Given the description of an element on the screen output the (x, y) to click on. 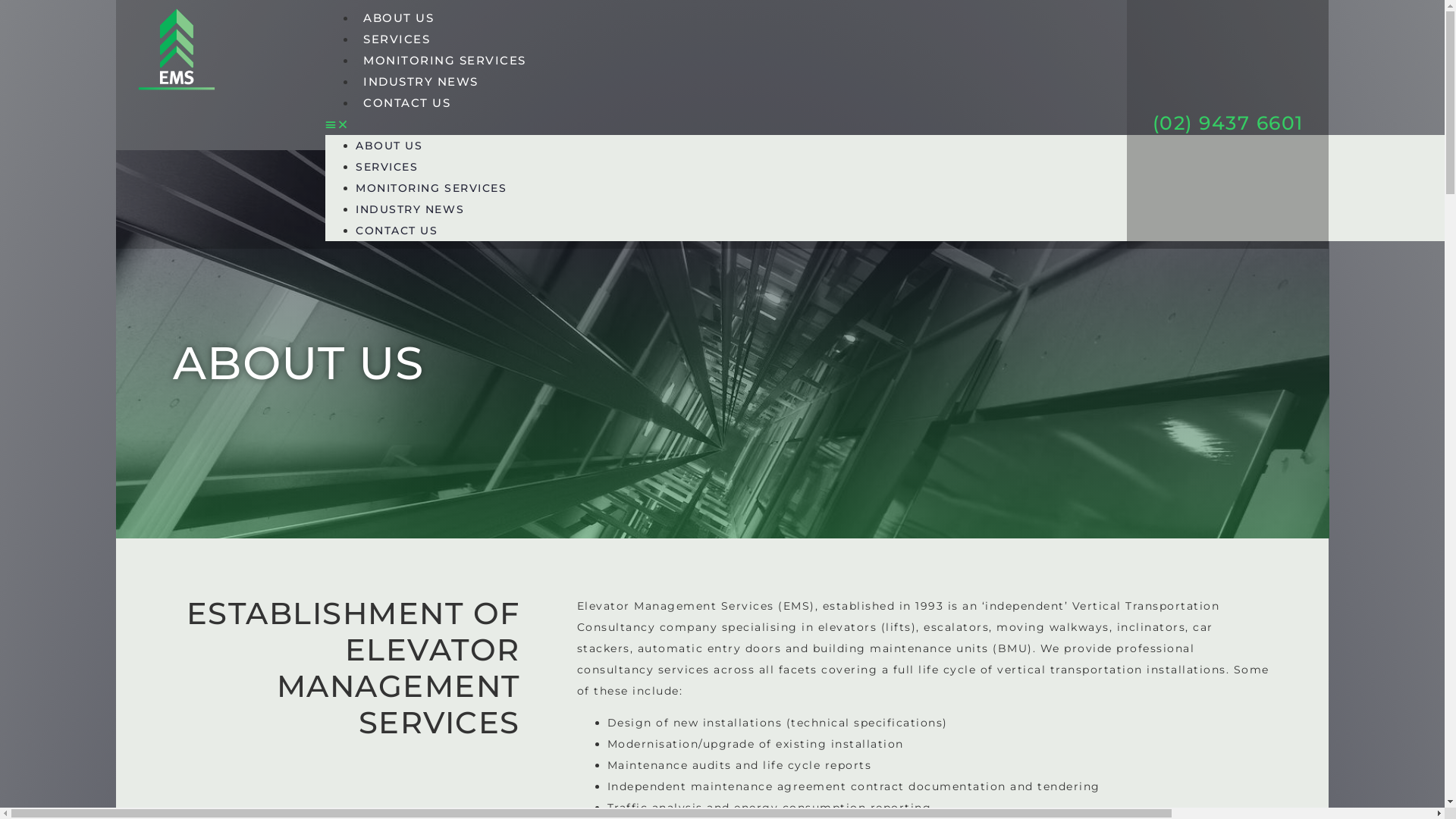
INDUSTRY NEWS Element type: text (409, 209)
SERVICES Element type: text (386, 166)
INDUSTRY NEWS Element type: text (420, 81)
MONITORING SERVICES Element type: text (444, 60)
CONTACT US Element type: text (396, 230)
ABOUT US Element type: text (388, 145)
ABOUT US Element type: text (398, 17)
CONTACT US Element type: text (406, 102)
SERVICES Element type: text (396, 38)
MONITORING SERVICES Element type: text (430, 187)
